Given the description of an element on the screen output the (x, y) to click on. 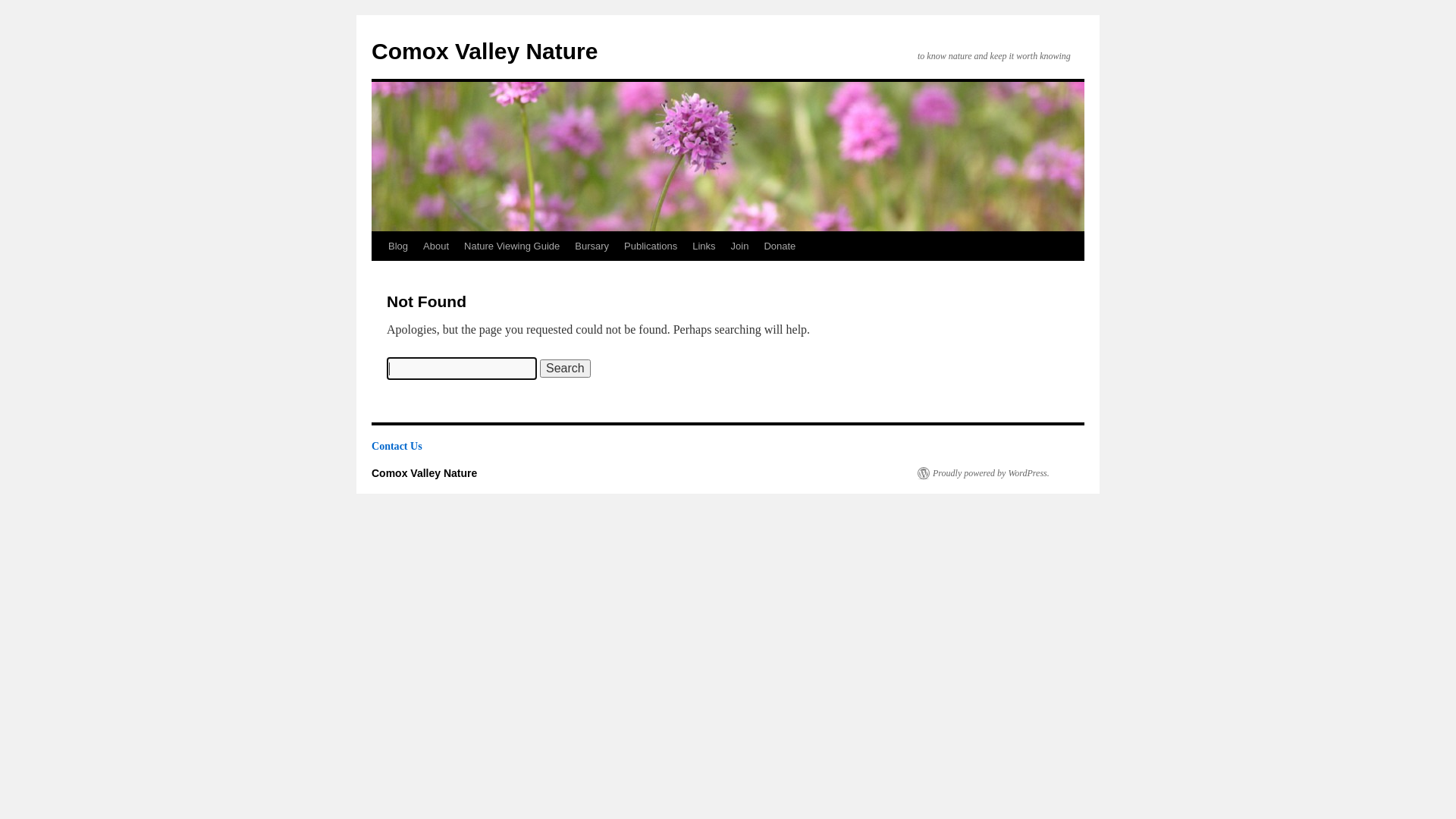
Publications Element type: text (650, 246)
About Element type: text (435, 246)
Donate Element type: text (779, 246)
Comox Valley Nature Element type: text (484, 50)
Proudly powered by WordPress. Element type: text (983, 473)
Nature Viewing Guide Element type: text (511, 246)
Links Element type: text (703, 246)
Join Element type: text (739, 246)
Contact Us Element type: text (396, 445)
Blog Element type: text (397, 246)
Skip to content Element type: text (377, 274)
Search Element type: text (564, 368)
Bursary Element type: text (591, 246)
Comox Valley Nature Element type: text (423, 473)
